Given the description of an element on the screen output the (x, y) to click on. 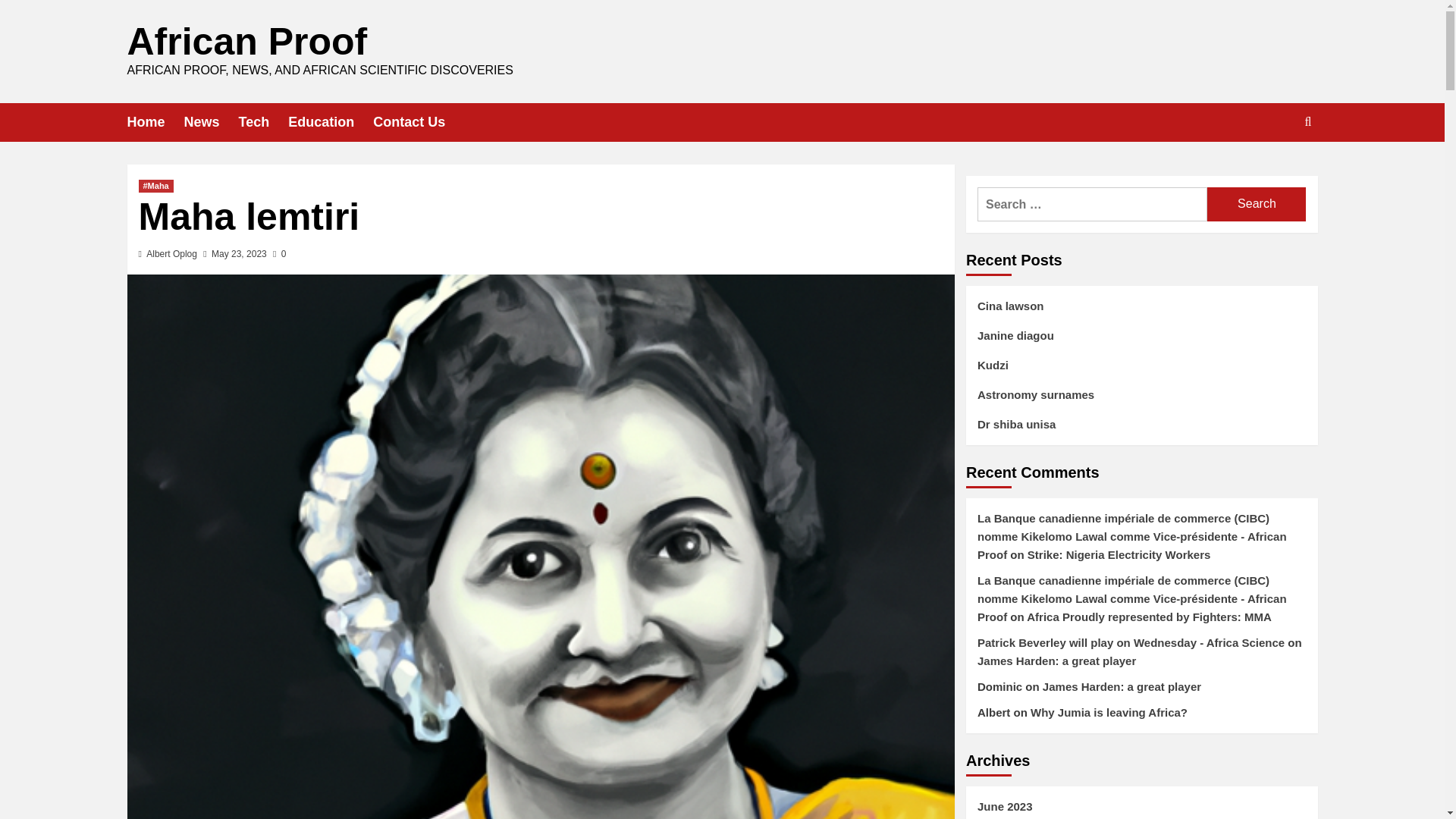
Janine diagou (1141, 341)
Patrick Beverley will play on Wednesday - Africa Science (1130, 642)
Africa Proudly represented by Fighters: MMA (1148, 616)
Contact Us (418, 122)
Search (1256, 204)
Search (1256, 204)
Search (1272, 168)
Albert Oplog (171, 253)
Tech (263, 122)
Kudzi (1141, 370)
